Given the description of an element on the screen output the (x, y) to click on. 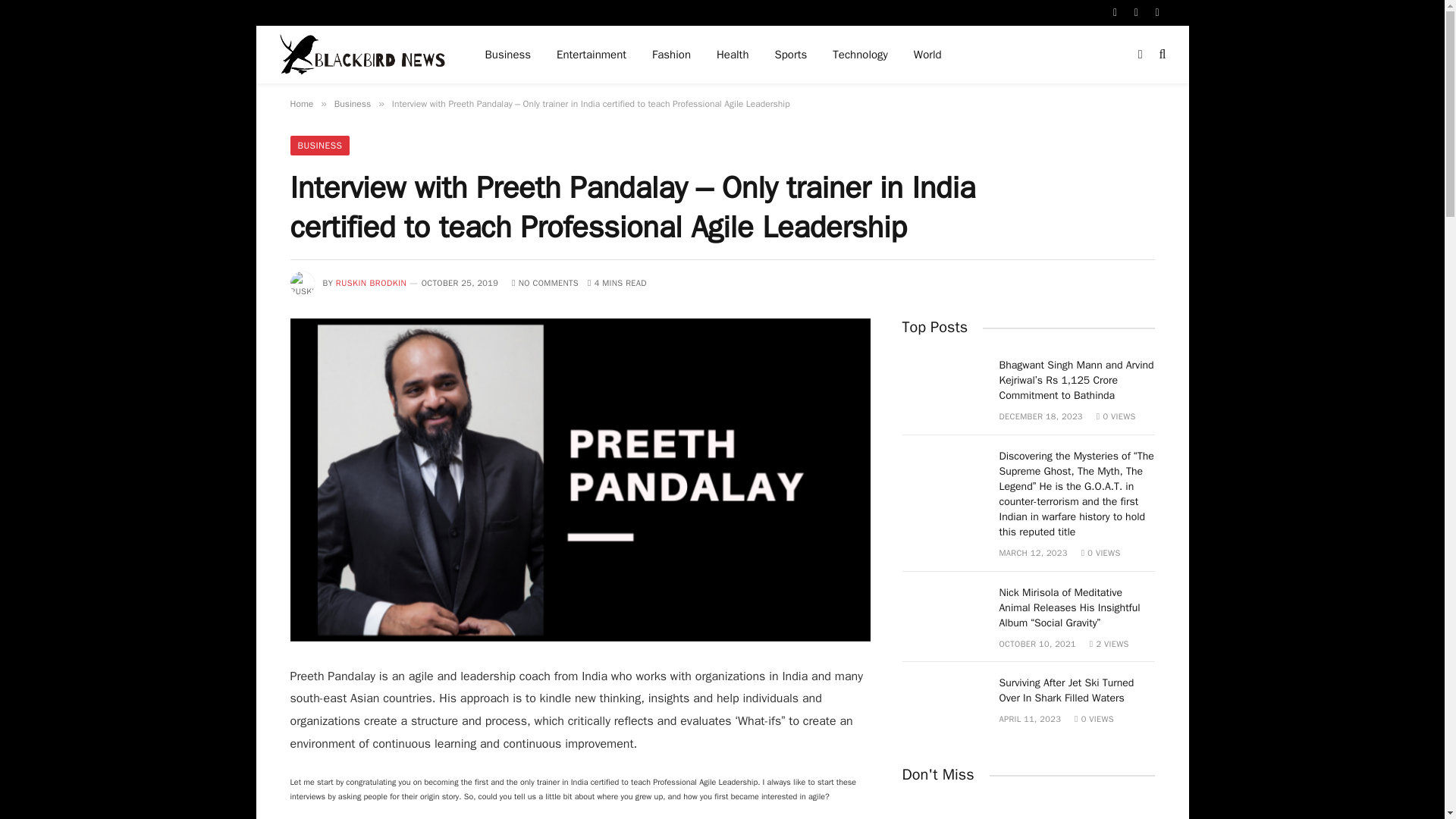
NO COMMENTS (545, 282)
Posts by Ruskin Brodkin (371, 282)
Entertainment (591, 54)
Business (352, 103)
Fashion (671, 54)
Technology (860, 54)
World (928, 54)
Switch to Dark Design - easier on eyes. (1140, 54)
BUSINESS (319, 145)
Blackbird News (362, 54)
